Given the description of an element on the screen output the (x, y) to click on. 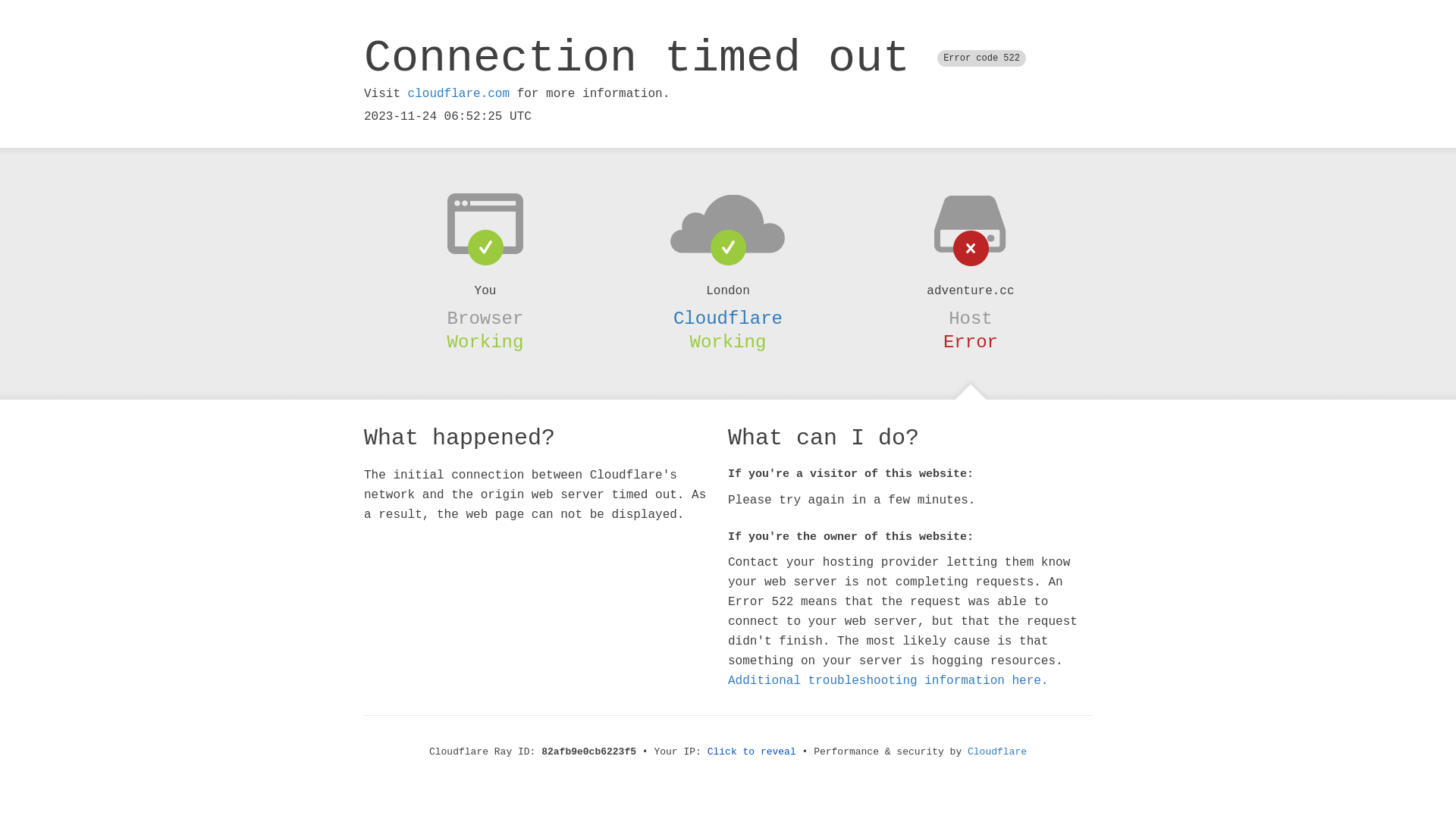
Cloudflare Element type: text (996, 751)
cloudflare.com Element type: text (458, 93)
Click to reveal Element type: text (751, 751)
Additional troubleshooting information here. Element type: text (888, 680)
Cloudflare Element type: text (727, 318)
